Given the description of an element on the screen output the (x, y) to click on. 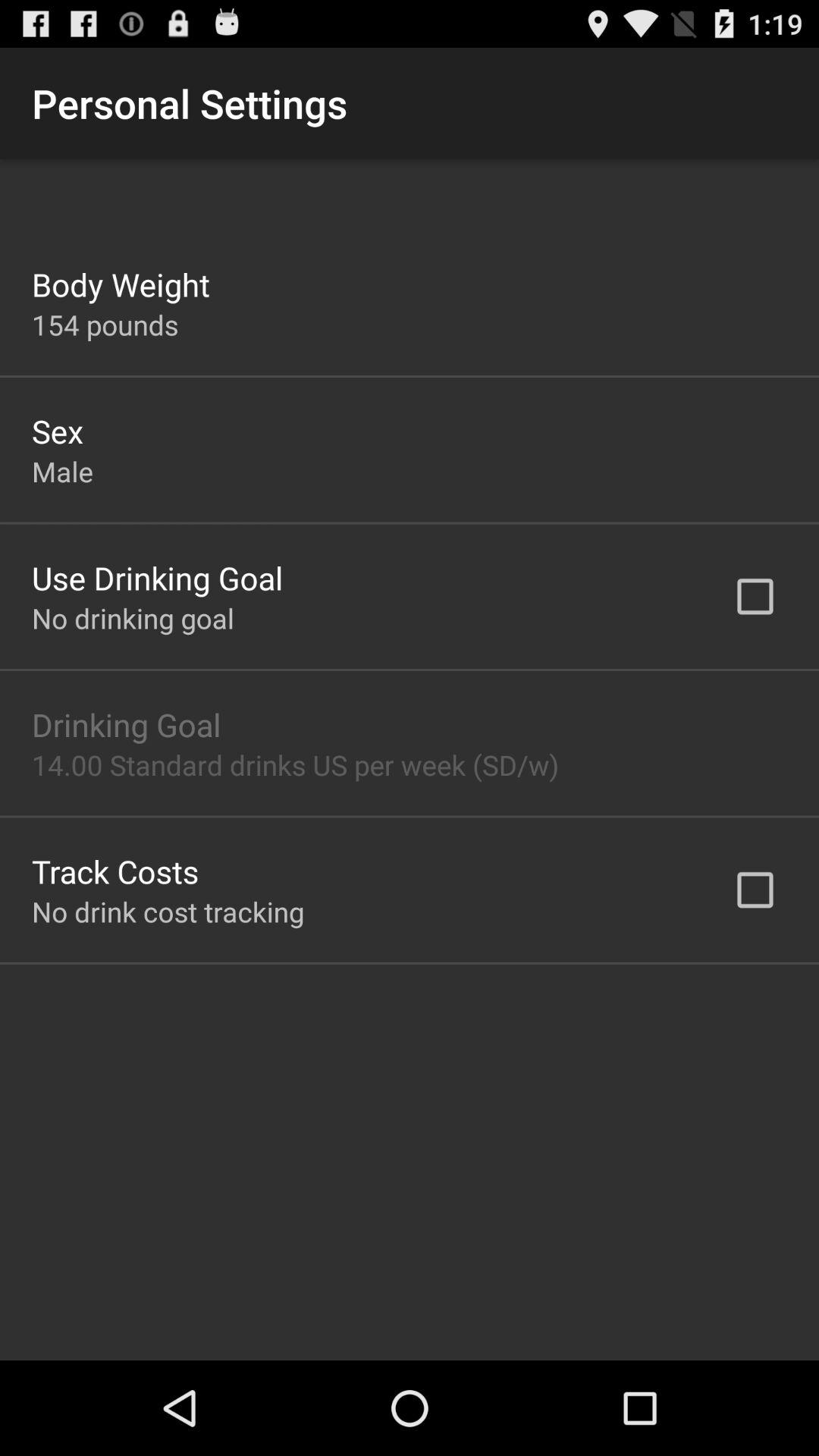
turn on the 14 00 standard icon (295, 764)
